Given the description of an element on the screen output the (x, y) to click on. 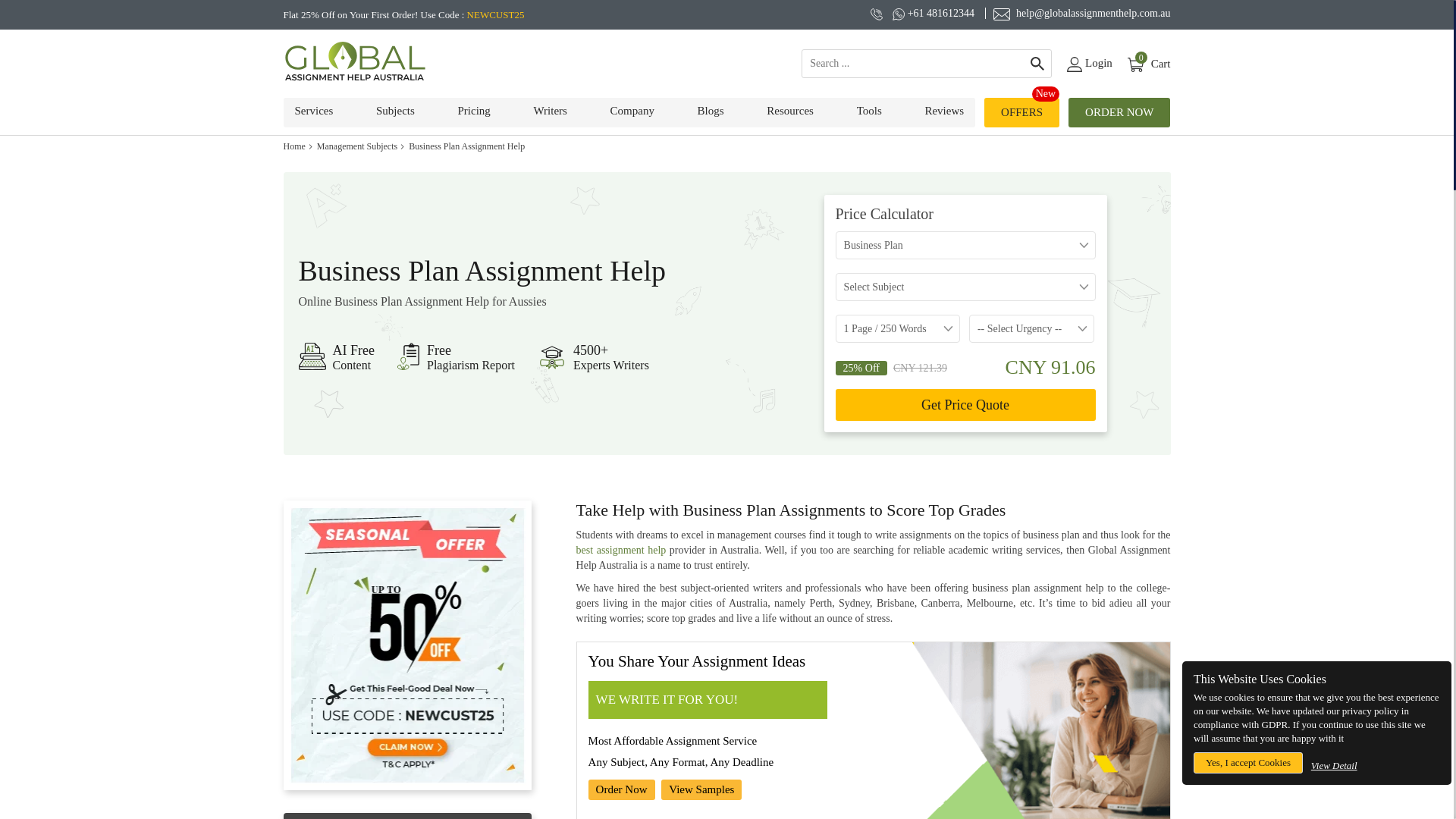
Yes, I accept Cookies (1248, 762)
Login (1148, 64)
